Given the description of an element on the screen output the (x, y) to click on. 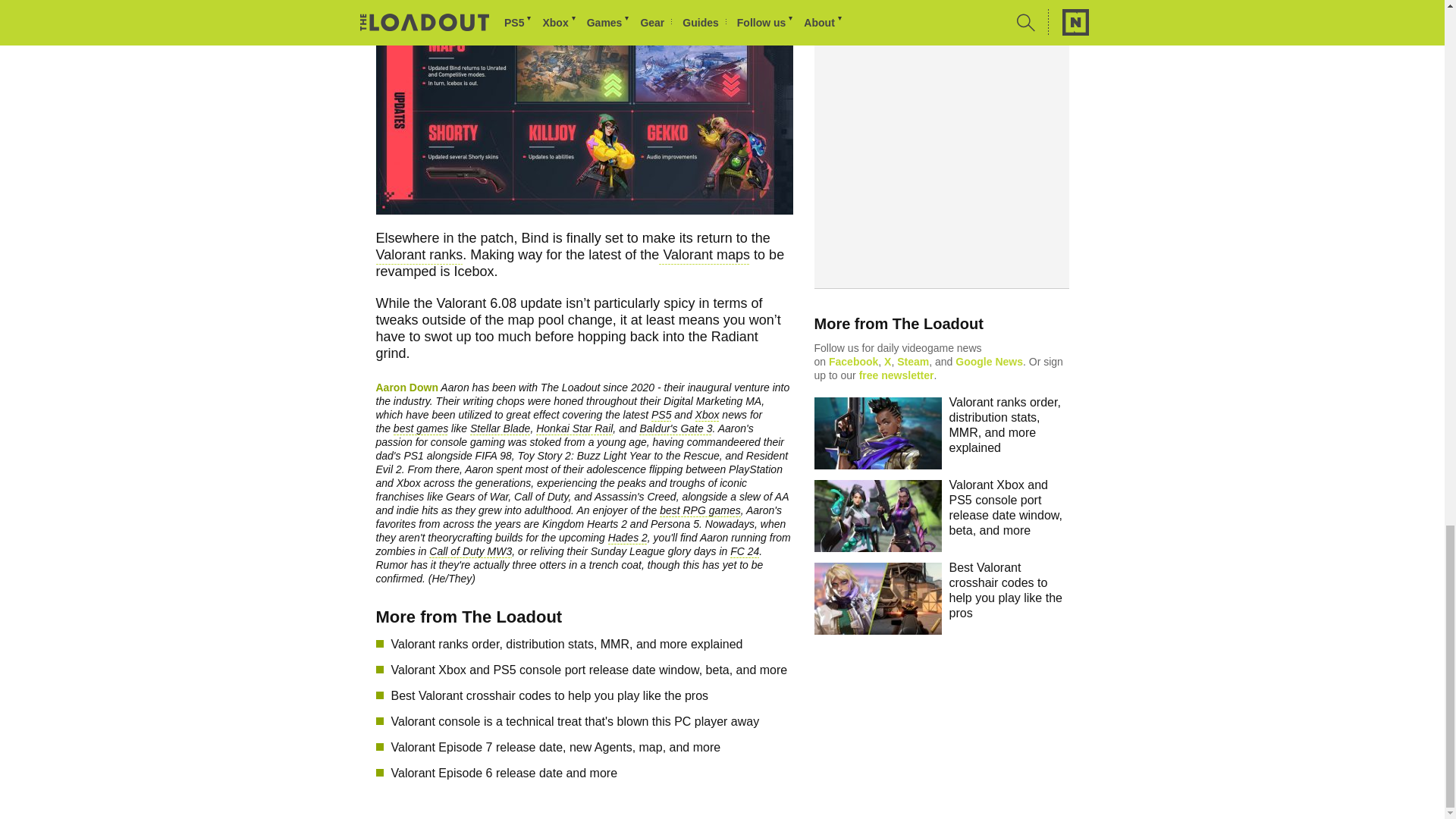
valorant-6-08-killjoy-nerf-1 (584, 107)
